Given the description of an element on the screen output the (x, y) to click on. 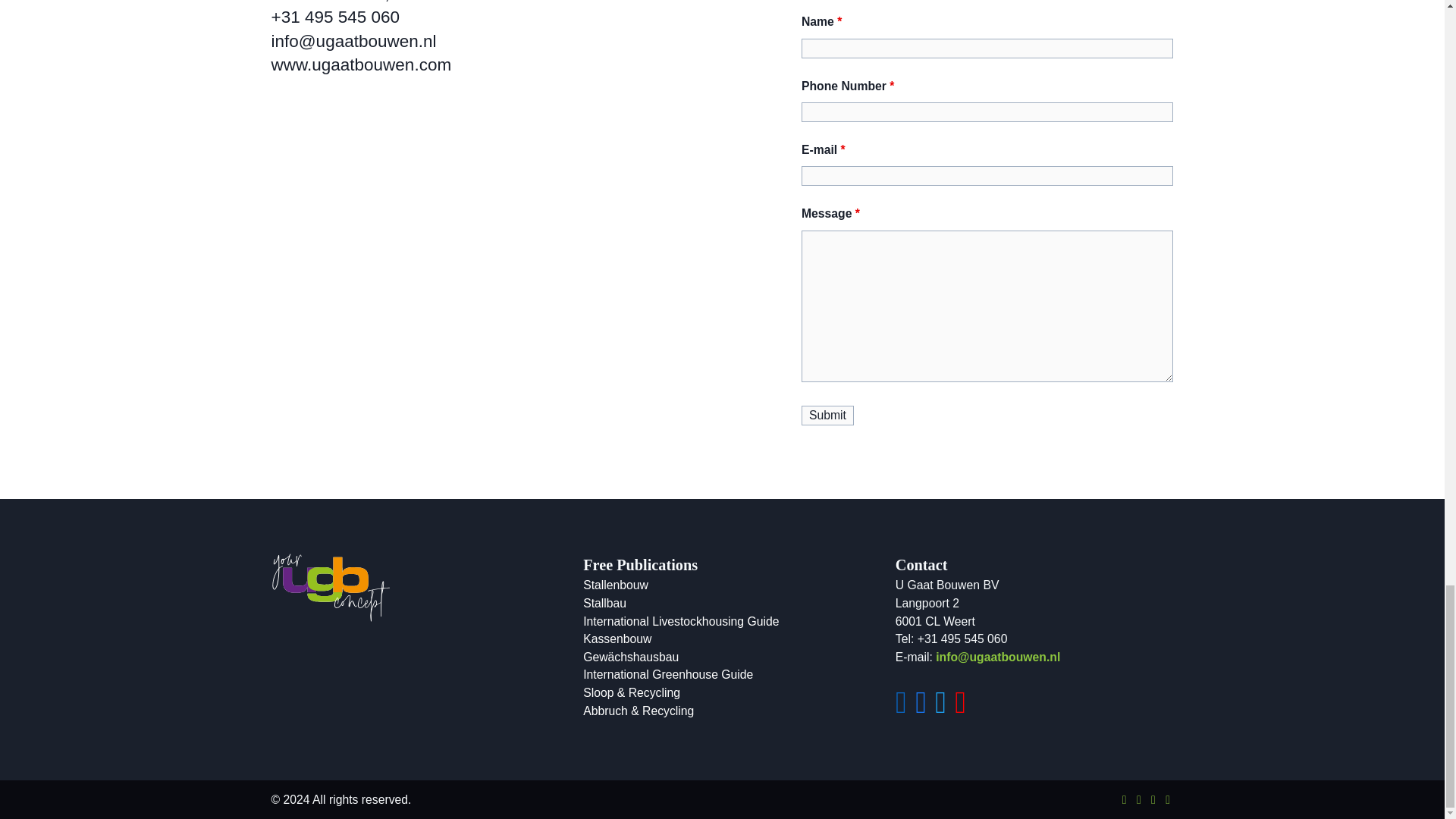
Stallbau (604, 603)
International Livestockhousing Guide (680, 621)
Submit (827, 415)
Submit (827, 415)
International Greenhouse Guide (667, 674)
Stallenbouw (615, 584)
Kassenbouw (616, 638)
